Given the description of an element on the screen output the (x, y) to click on. 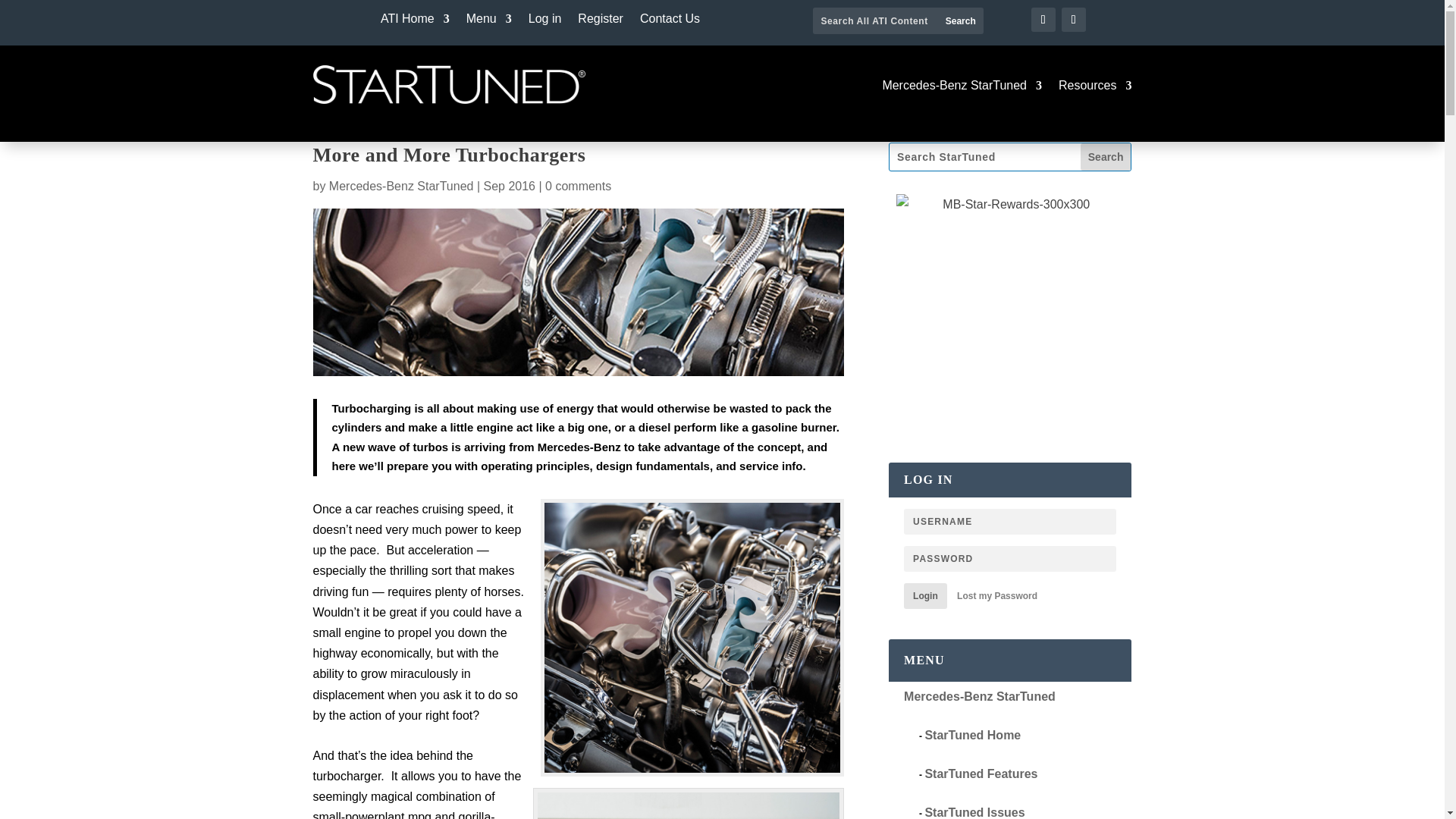
Contact Us (670, 21)
More-and-More-Turbochargers (578, 291)
Log in (545, 21)
Search (960, 20)
Follow on Facebook (1042, 19)
Register (600, 21)
Posts by Mercedes-Benz StarTuned (401, 185)
StarTuned-Logo-W (449, 84)
Mercedes-Benz StarTuned (962, 88)
ATI Home (414, 21)
